Given the description of an element on the screen output the (x, y) to click on. 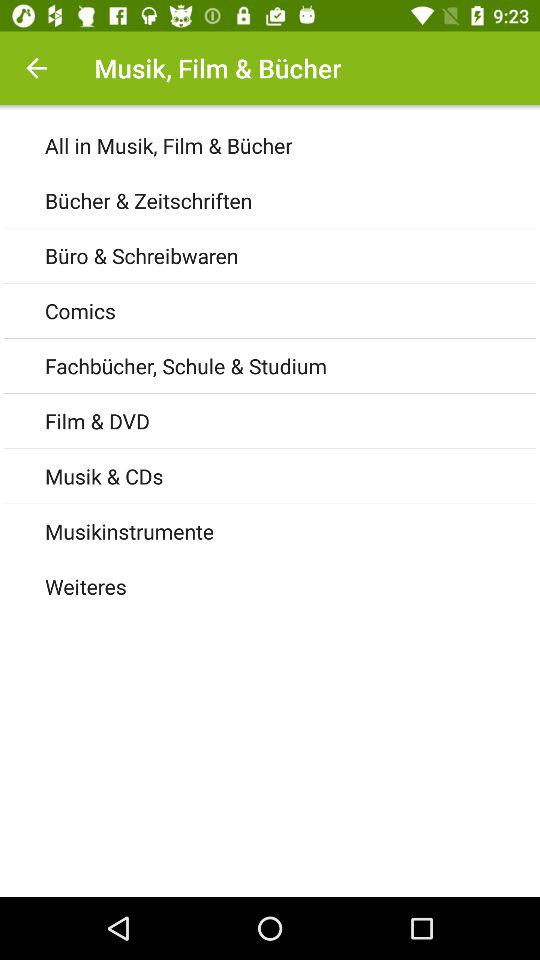
press the icon above the weiteres icon (292, 530)
